Given the description of an element on the screen output the (x, y) to click on. 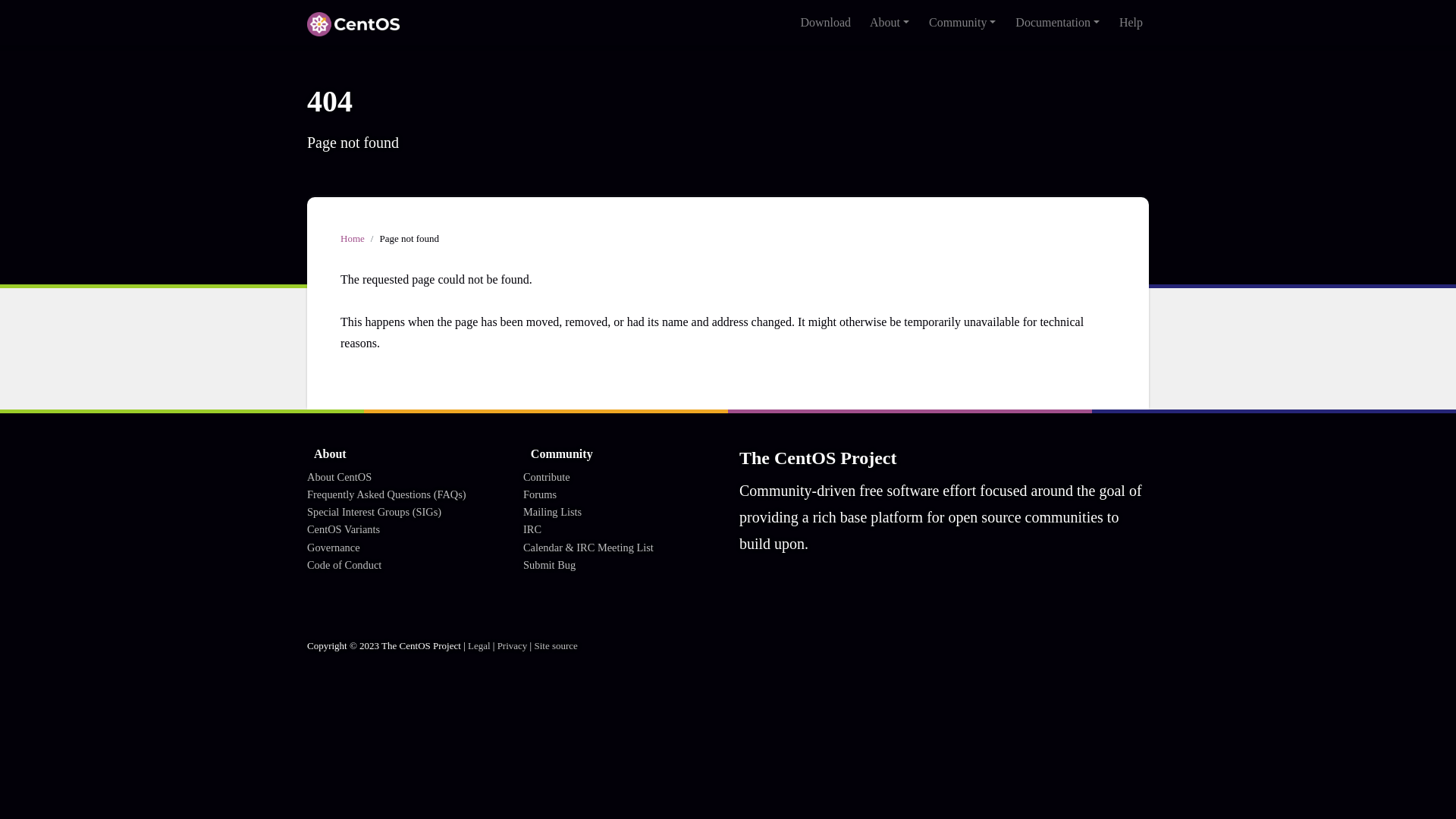
GPG Key Info Element type: text (142, 134)
Submit Bug Element type: text (399, 107)
IRC Element type: text (46, 544)
Submit Bug Element type: text (65, 571)
Documentation Element type: text (73, 121)
Home Element type: text (50, 248)
Code of Conduct Element type: text (630, 80)
Community Element type: text (65, 93)
Wiki Element type: text (47, 134)
CentOS Variants Element type: text (76, 415)
Manuals Element type: text (83, 134)
Frequently Asked Questions (FAQs) Element type: text (124, 388)
Calendar & IRC Meeting List Element type: text (294, 107)
Frequently Asked Questions (FAQs) Element type: text (199, 80)
Site source Element type: text (312, 656)
Legal Element type: text (217, 656)
Mailing Lists Element type: text (163, 107)
About CentOS Element type: text (72, 80)
Forums Element type: text (54, 517)
Special Interest Groups (SIGs) Element type: text (365, 80)
Calendar & IRC Meeting List Element type: text (108, 558)
Governance Element type: text (556, 80)
Contribute Element type: text (61, 107)
CentOS Variants Element type: text (483, 80)
Page top Element type: hover (12, 686)
Governance Element type: text (65, 429)
Help Element type: text (47, 148)
Special Interest Groups (SIGs) Element type: text (110, 401)
IRC Element type: text (209, 107)
Privacy Element type: text (257, 656)
Mailing Lists Element type: text (68, 530)
Toggle navigation Element type: text (146, 26)
About CentOS Element type: text (72, 374)
Code of Conduct Element type: text (77, 442)
Forums Element type: text (109, 107)
Download Element type: text (61, 53)
About Element type: text (51, 66)
Contribute Element type: text (61, 503)
